Given the description of an element on the screen output the (x, y) to click on. 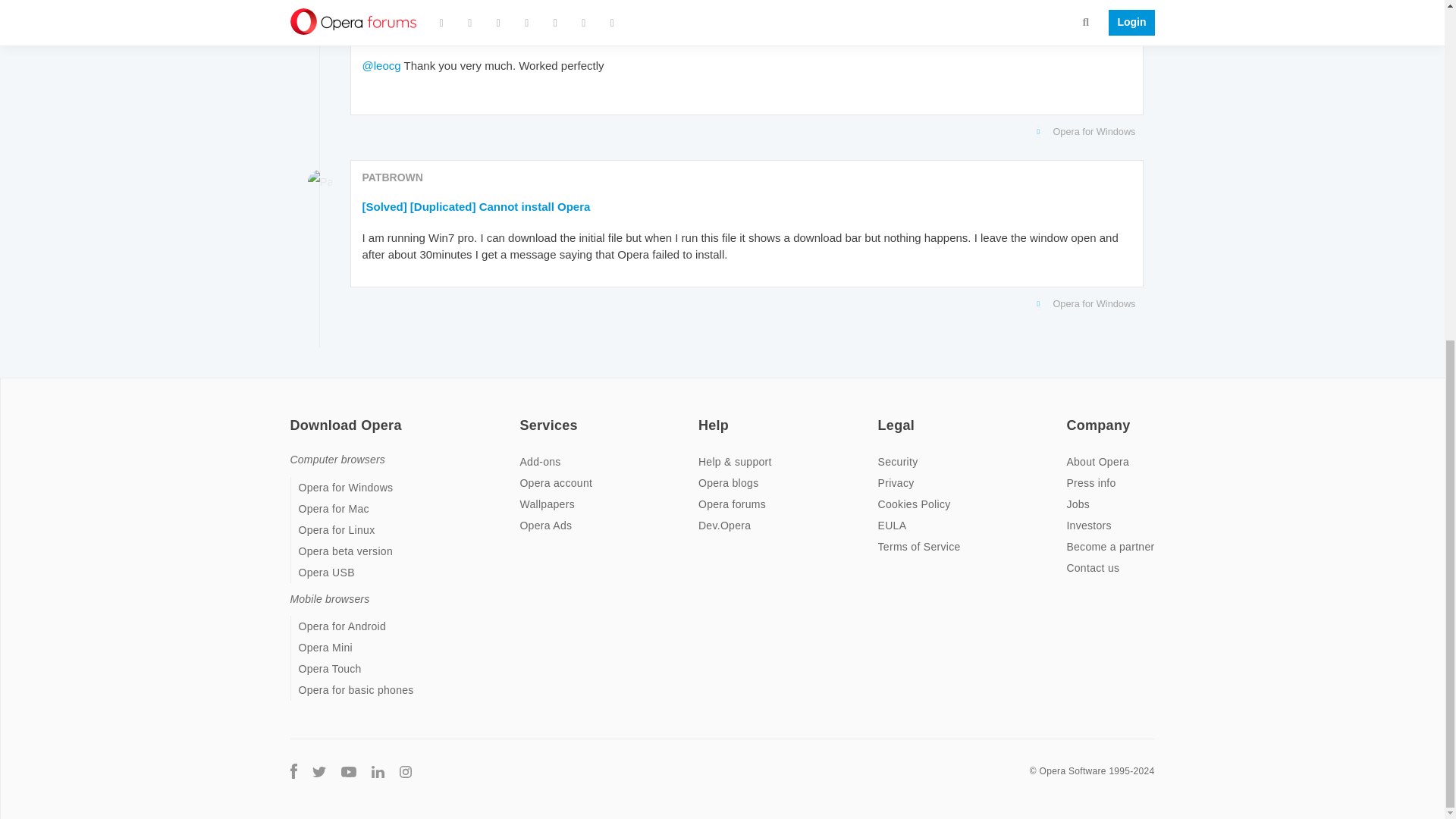
PATBROWN (392, 177)
on (702, 415)
on (523, 415)
Opera for Windows (742, 131)
on (881, 415)
on (293, 415)
on (1070, 415)
PATBROWN (392, 5)
